Given the description of an element on the screen output the (x, y) to click on. 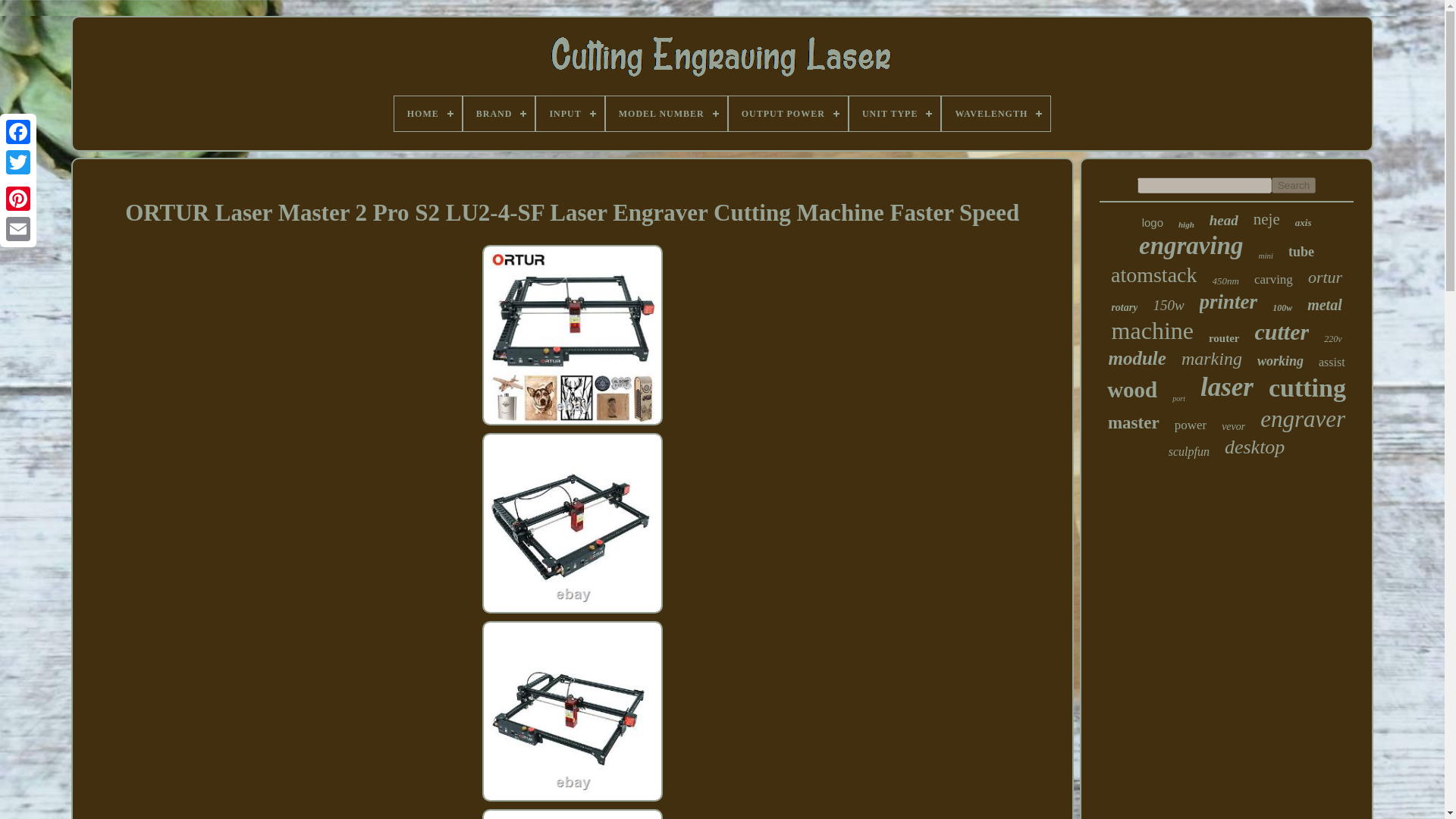
BRAND (499, 113)
MODEL NUMBER (665, 113)
HOME (427, 113)
INPUT (569, 113)
Search (1293, 185)
